Given the description of an element on the screen output the (x, y) to click on. 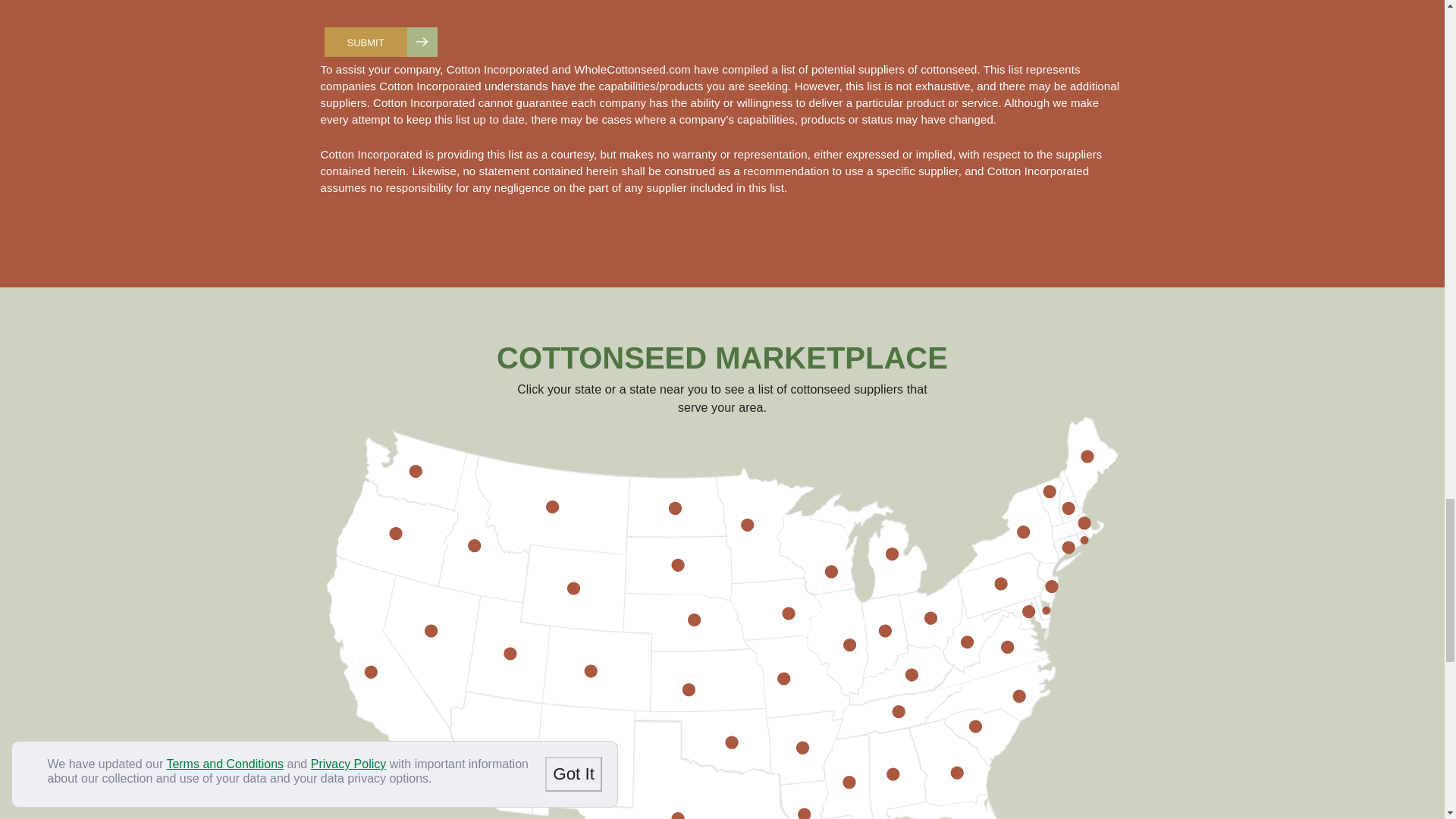
SUBMIT (381, 41)
